Given the description of an element on the screen output the (x, y) to click on. 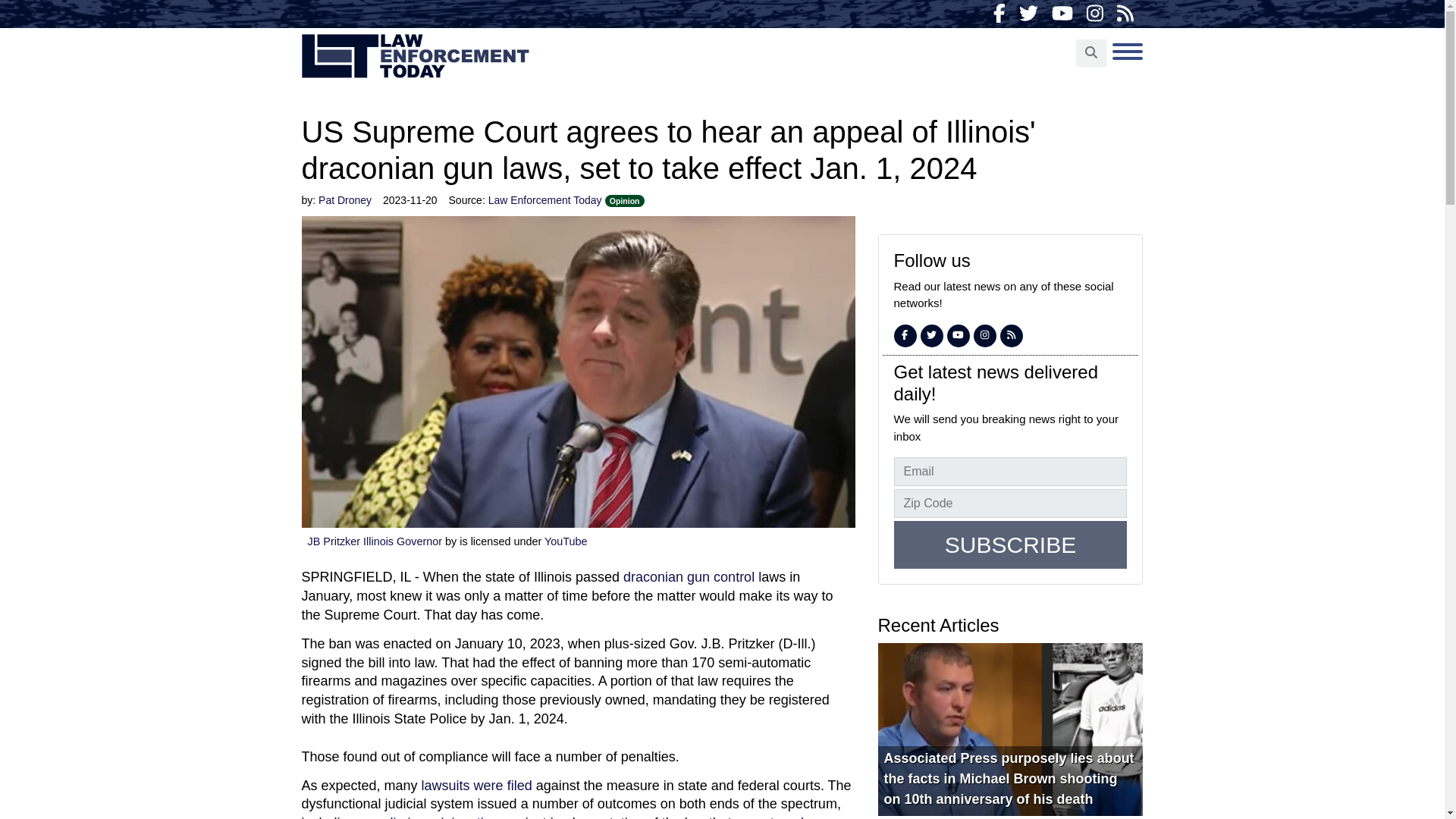
Pat Droney (344, 200)
Facebook (904, 335)
RSS (1011, 335)
Twitter (1028, 13)
draconian gun control l (692, 576)
Law Enforcement Today Opinion (566, 200)
JB Pritzker Illinois Governor (374, 541)
Instagram (984, 335)
lawsuits were filed (478, 785)
YouTube (1062, 13)
